Given the description of an element on the screen output the (x, y) to click on. 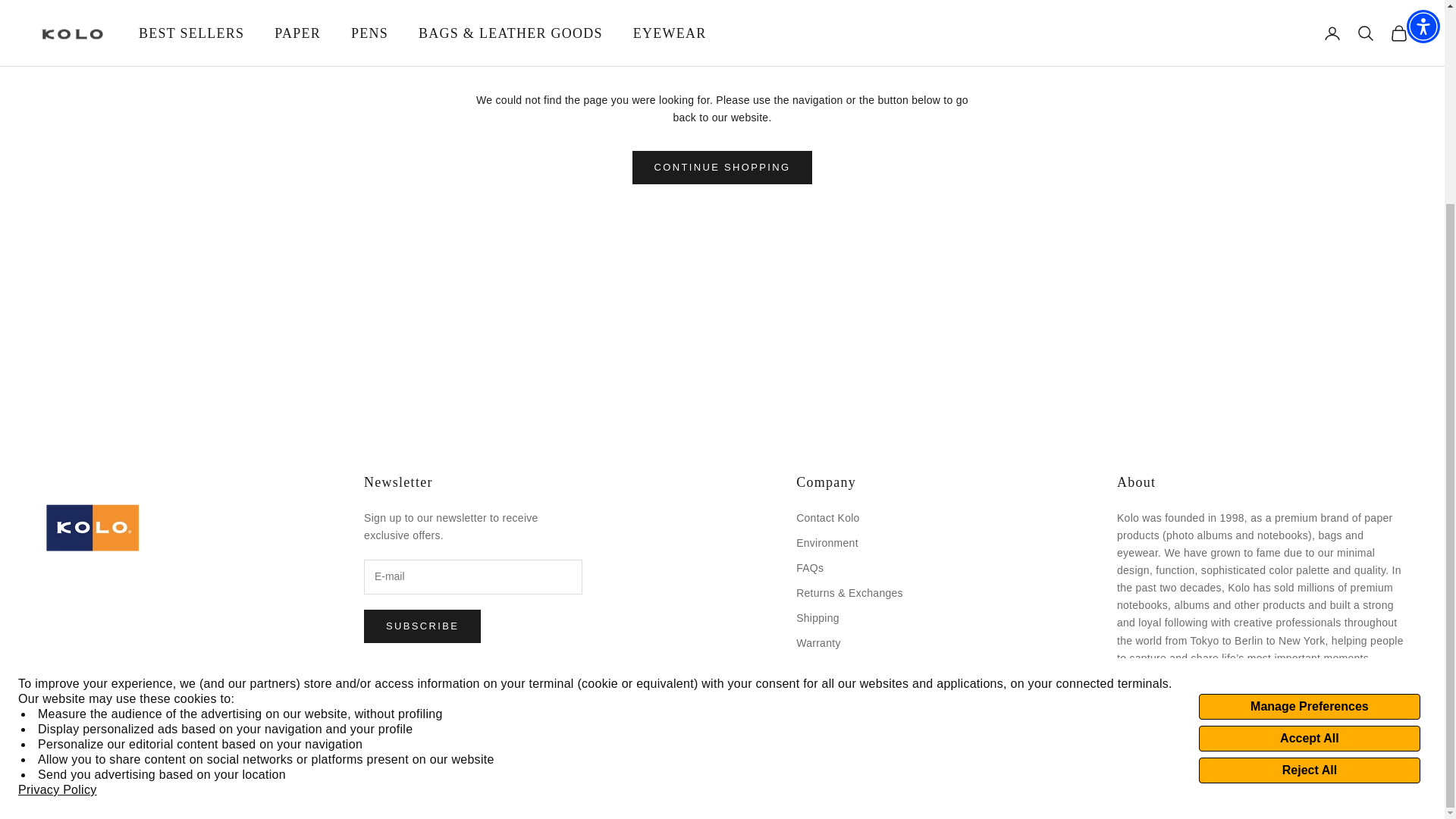
Accept All (1309, 477)
CONTINUE SHOPPING (721, 167)
Reject All (1309, 509)
Privacy Policy (57, 529)
Manage Preferences (1309, 445)
